Given the description of an element on the screen output the (x, y) to click on. 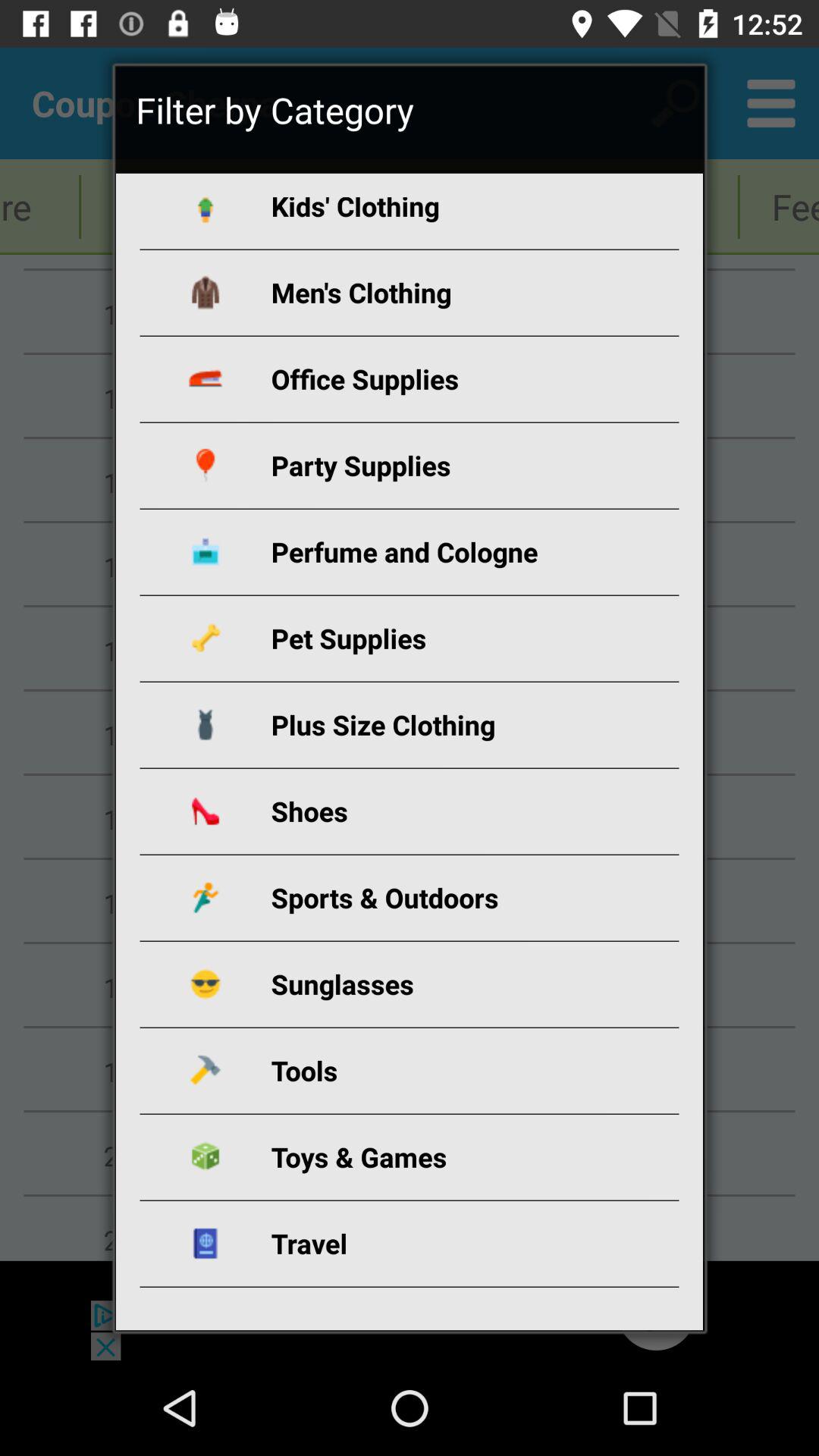
tap the app above party supplies (427, 378)
